Given the description of an element on the screen output the (x, y) to click on. 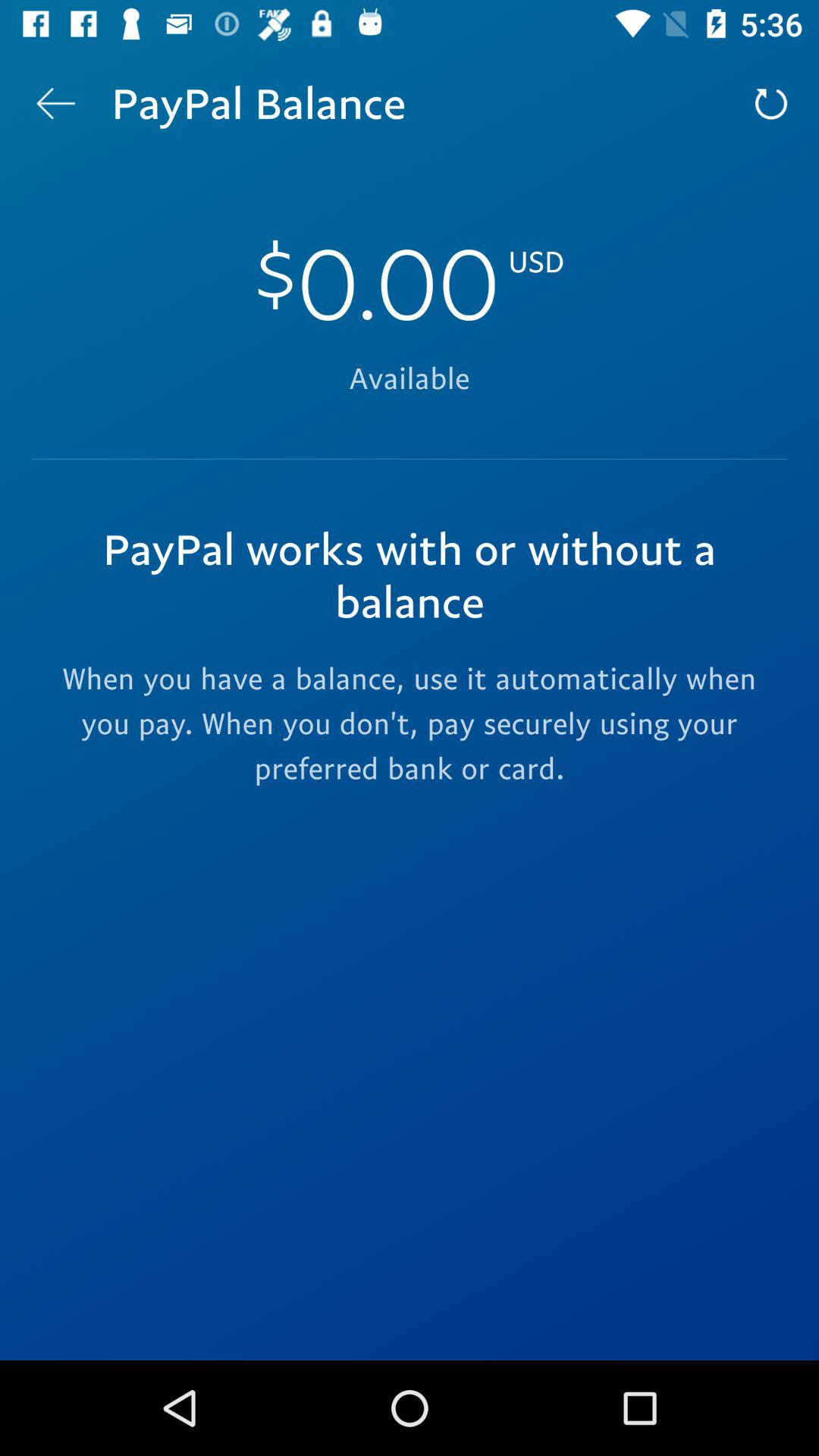
turn off icon at the top right corner (771, 103)
